Given the description of an element on the screen output the (x, y) to click on. 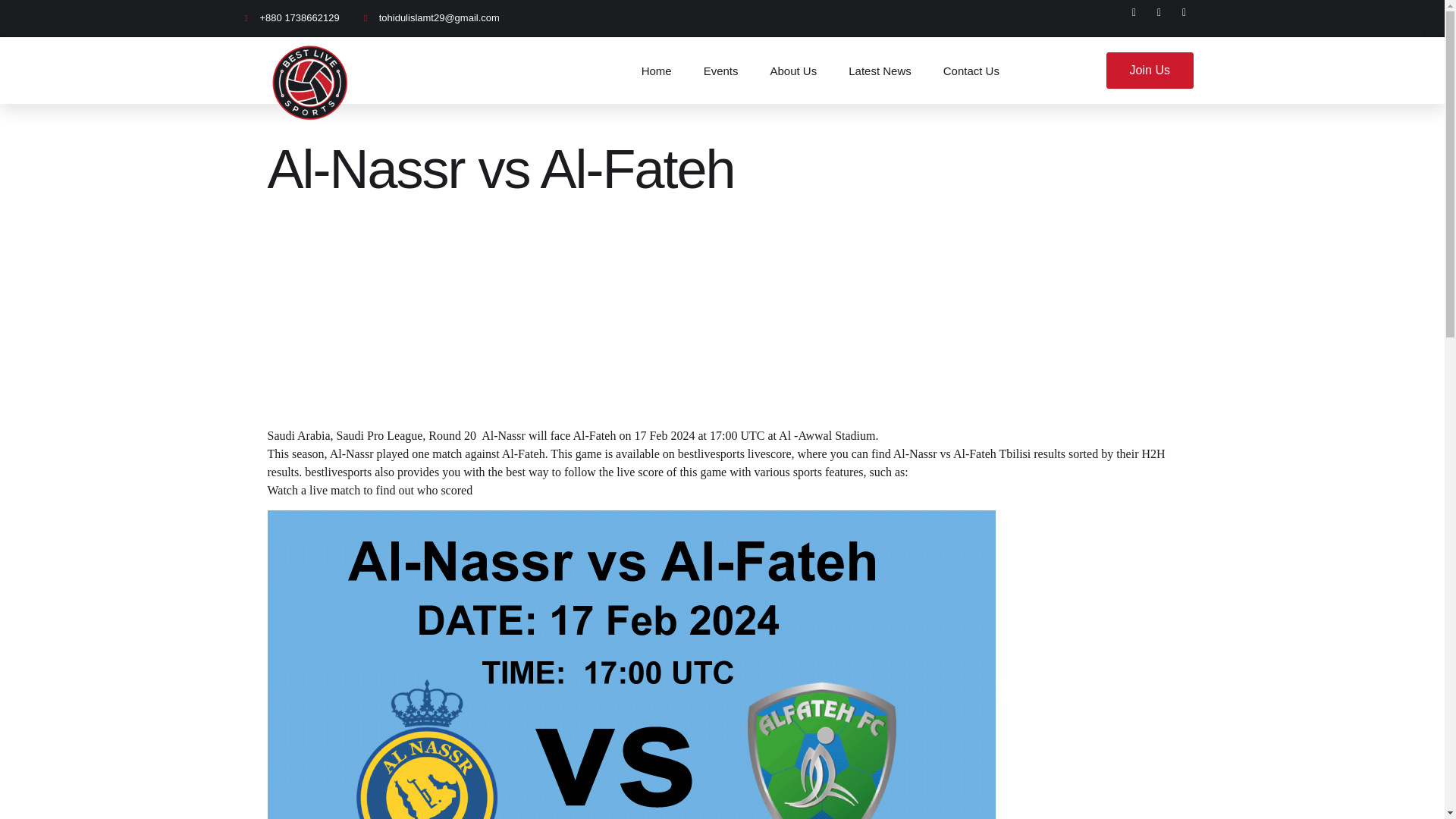
Events (720, 69)
Join Us (1149, 70)
Latest News (879, 69)
About Us (793, 69)
Contact Us (970, 69)
